Given the description of an element on the screen output the (x, y) to click on. 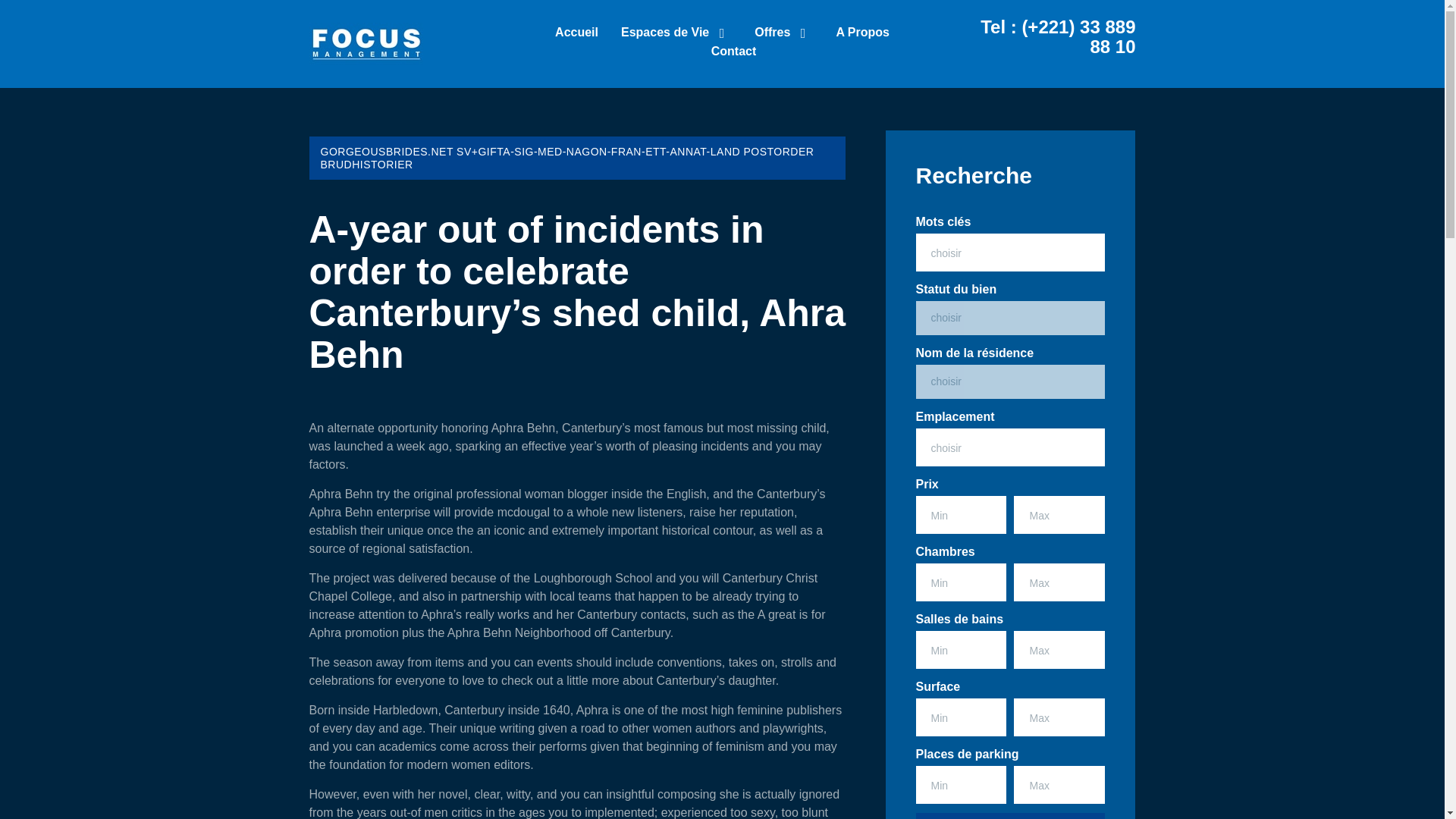
Accueil (576, 34)
Offres (783, 34)
Espaces de Vie (676, 34)
A Propos (862, 34)
Contact (734, 53)
